Given the description of an element on the screen output the (x, y) to click on. 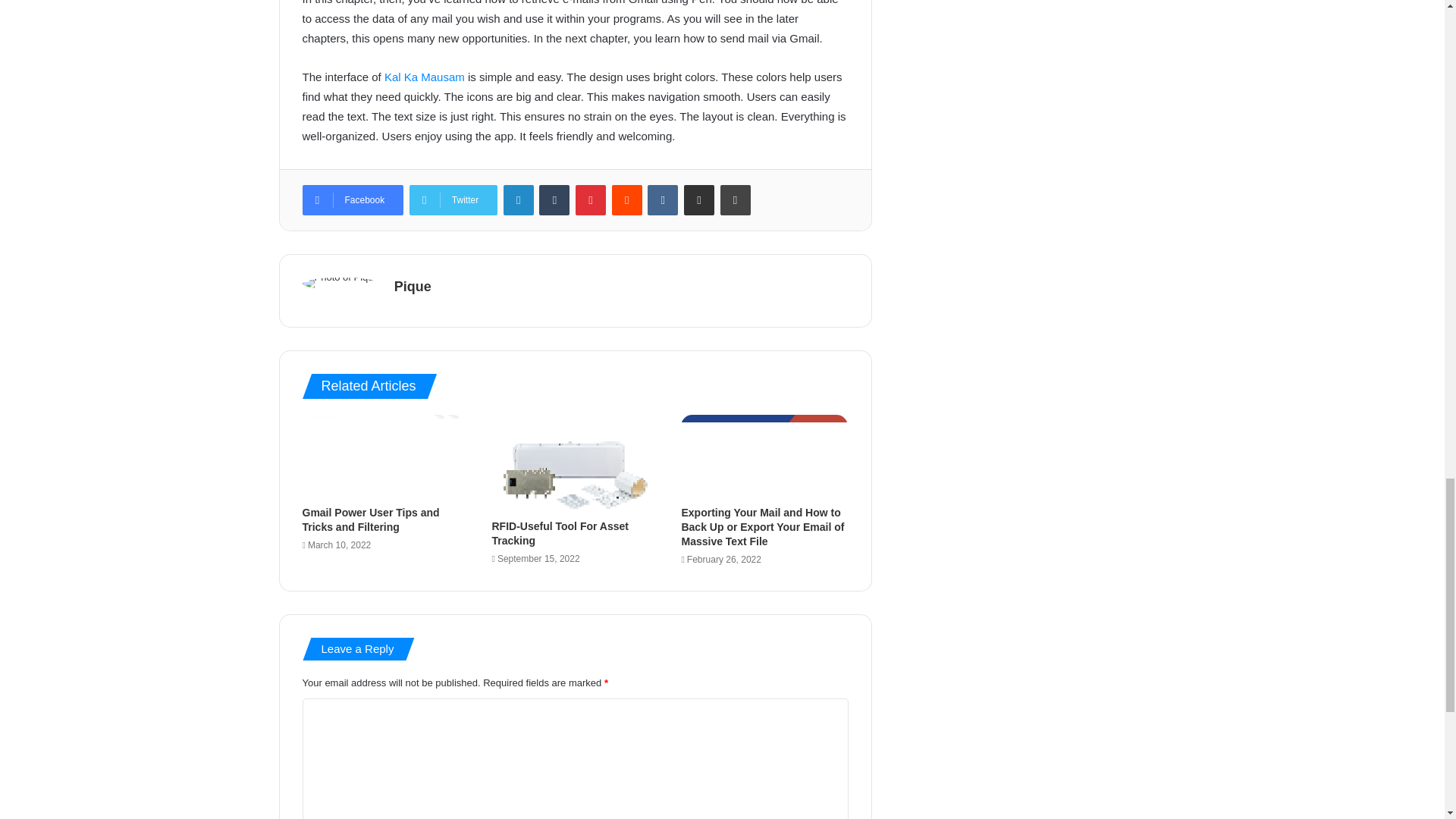
Kal Ka Mausam (424, 76)
Tumblr (553, 200)
Twitter (453, 200)
Print (735, 200)
Twitter (453, 200)
Facebook (352, 200)
Share via Email (699, 200)
LinkedIn (518, 200)
LinkedIn (518, 200)
Tumblr (553, 200)
